Given the description of an element on the screen output the (x, y) to click on. 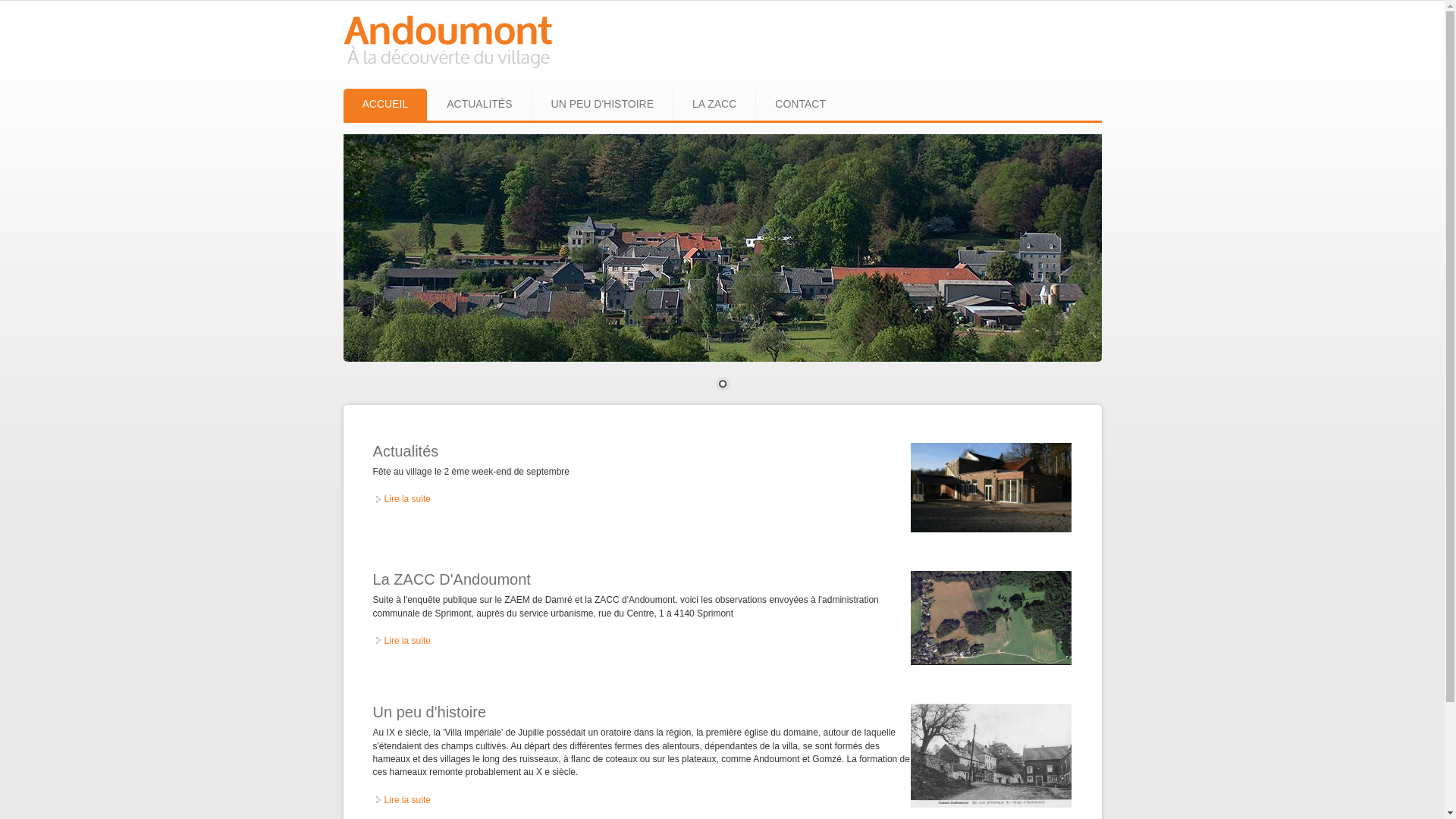
LA ZACC Element type: text (714, 103)
UN PEU D'HISTOIRE Element type: text (602, 103)
Lire la suite
de La ZACC D'Andoumont Element type: text (407, 640)
Lire la suite
de Un peu d'histoire Element type: text (407, 799)
Accueil Element type: hover (446, 69)
CONTACT Element type: text (800, 103)
Suivant Element type: text (394, 331)
ACCUEIL Element type: text (384, 103)
La ZACC D'Andoumont Element type: text (451, 579)
Un peu d'histoire Element type: text (429, 711)
1 Element type: text (722, 384)
